Given the description of an element on the screen output the (x, y) to click on. 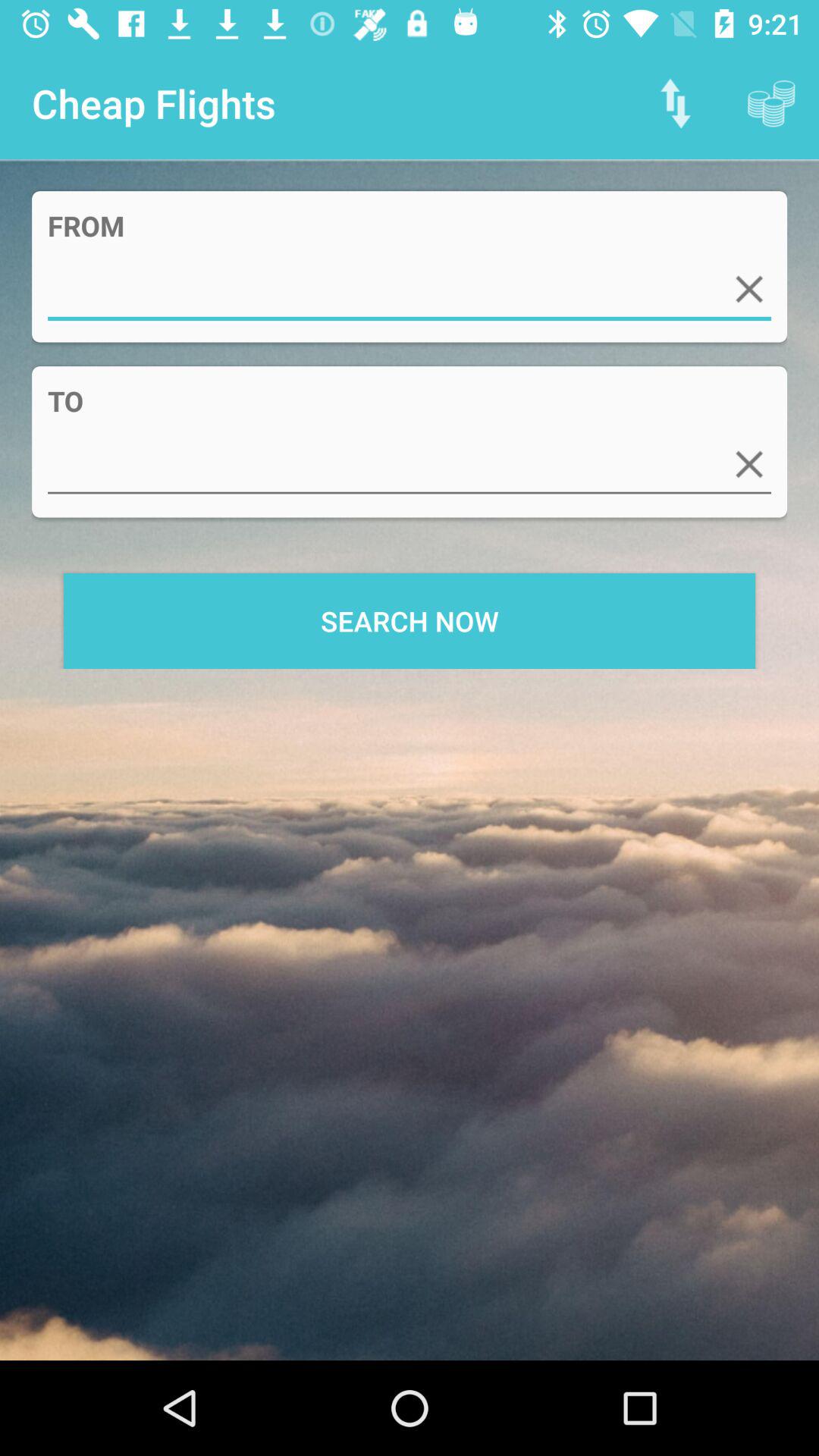
go back (749, 464)
